Given the description of an element on the screen output the (x, y) to click on. 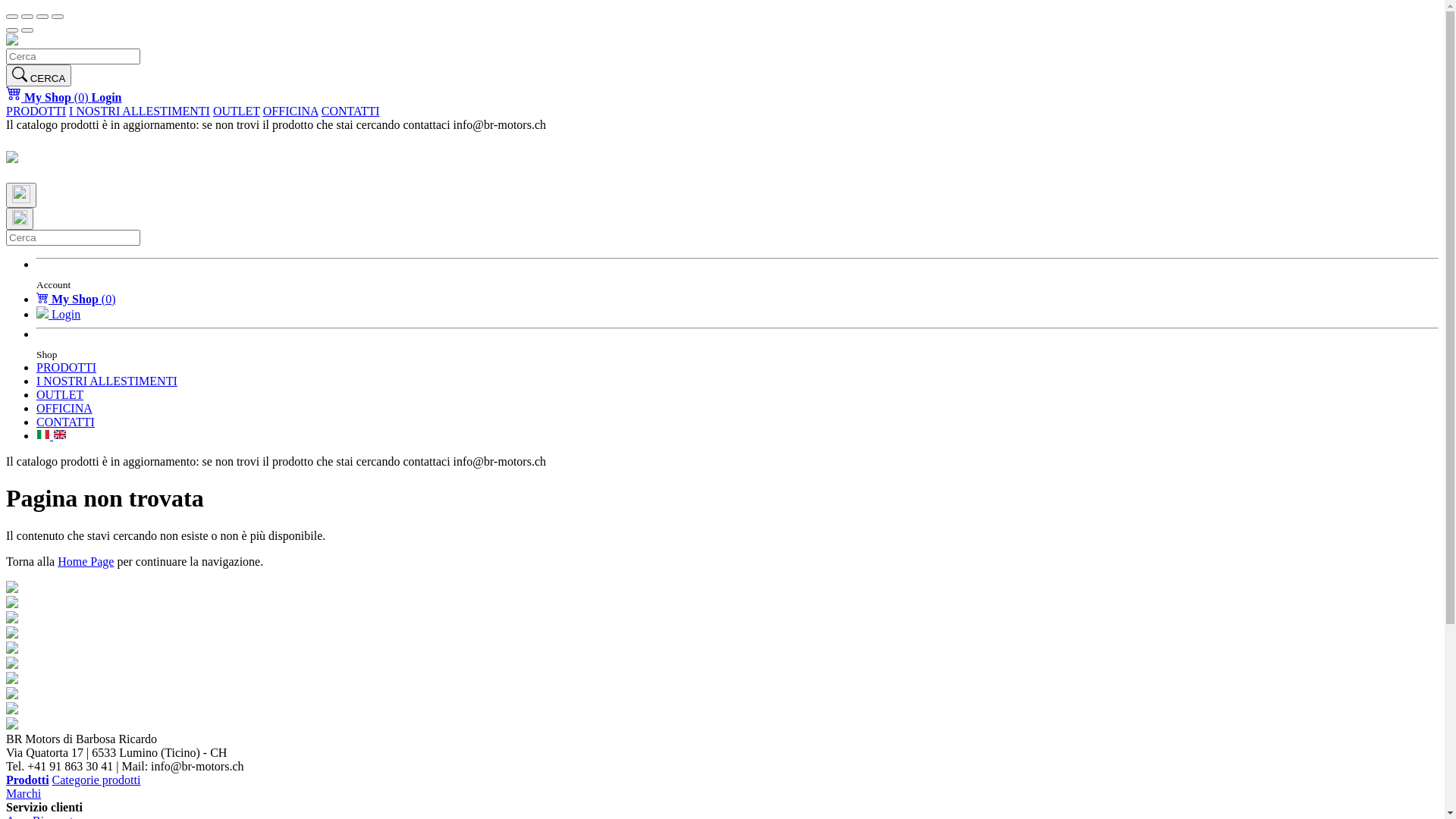
CERCA Element type: text (38, 75)
OFFICINA Element type: text (290, 110)
Login Element type: text (58, 313)
Zoom in/out Element type: hover (57, 16)
Login Element type: text (106, 97)
My Shop (0) Element type: text (75, 298)
I NOSTRI ALLESTIMENTI Element type: text (106, 380)
Home Page Element type: text (85, 561)
My Shop (0) Element type: text (48, 97)
CONTATTI Element type: text (65, 421)
Categorie prodotti Element type: text (96, 779)
I NOSTRI ALLESTIMENTI Element type: text (139, 110)
Prodotti Element type: text (27, 779)
CONTATTI Element type: text (350, 110)
OUTLET Element type: text (236, 110)
Next (arrow right) Element type: hover (27, 30)
PRODOTTI Element type: text (66, 366)
Share Element type: hover (27, 16)
Previous (arrow left) Element type: hover (12, 30)
PRODOTTI Element type: text (35, 110)
OUTLET Element type: text (59, 394)
OFFICINA Element type: text (64, 407)
Toggle fullscreen Element type: hover (42, 16)
Marchi Element type: text (23, 793)
Close (Esc) Element type: hover (12, 16)
